Given the description of an element on the screen output the (x, y) to click on. 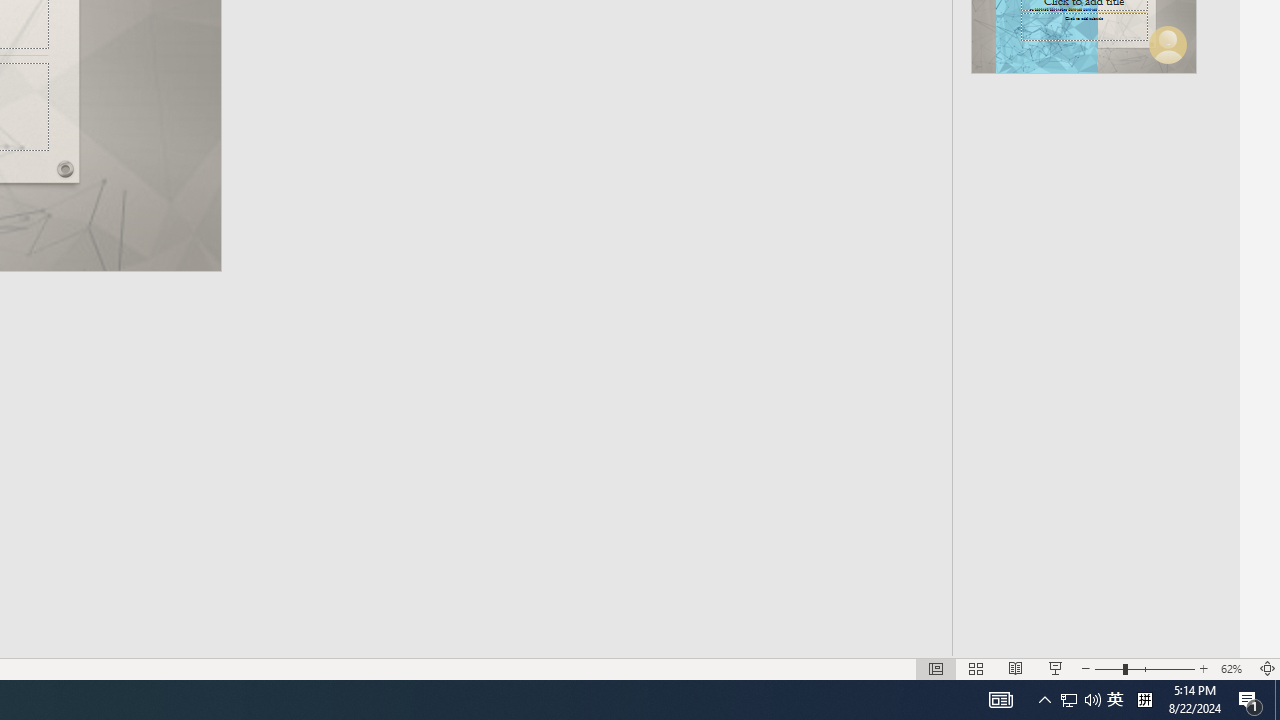
Zoom 62% (1234, 668)
Camera 9, No camera detected. (148, 198)
